Given the description of an element on the screen output the (x, y) to click on. 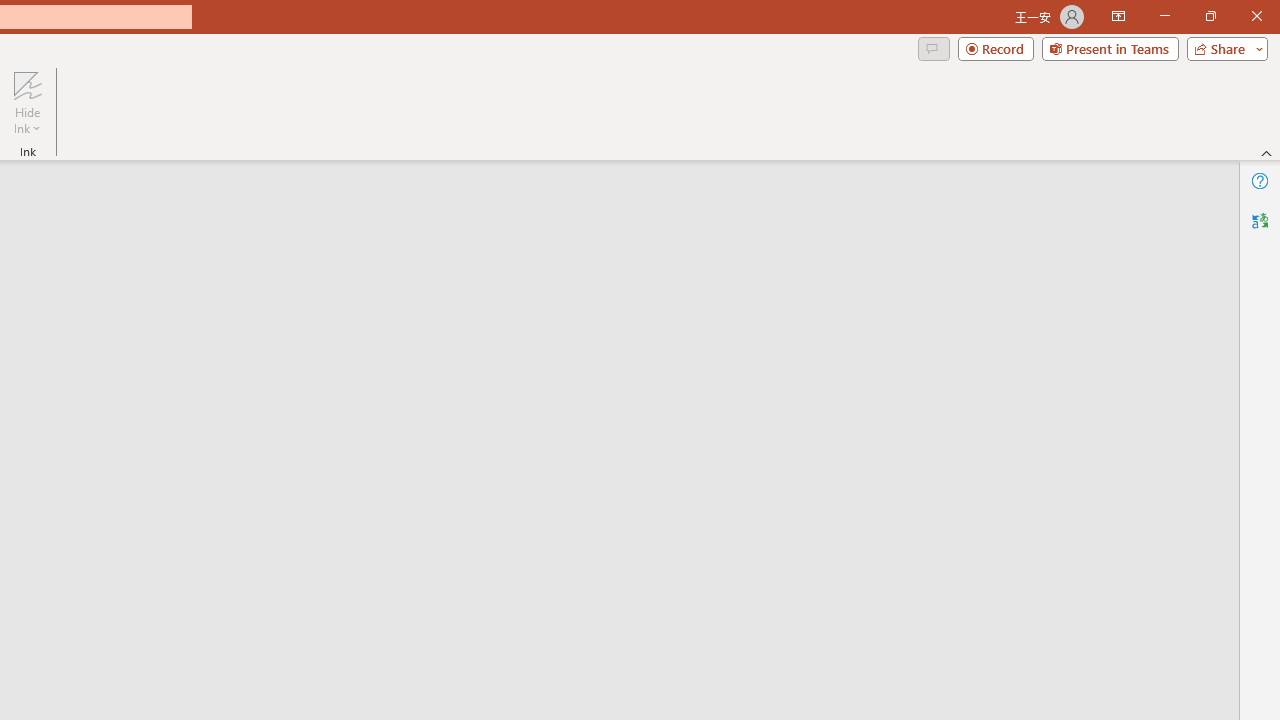
Hide Ink (27, 102)
Hide Ink (27, 84)
